Given the description of an element on the screen output the (x, y) to click on. 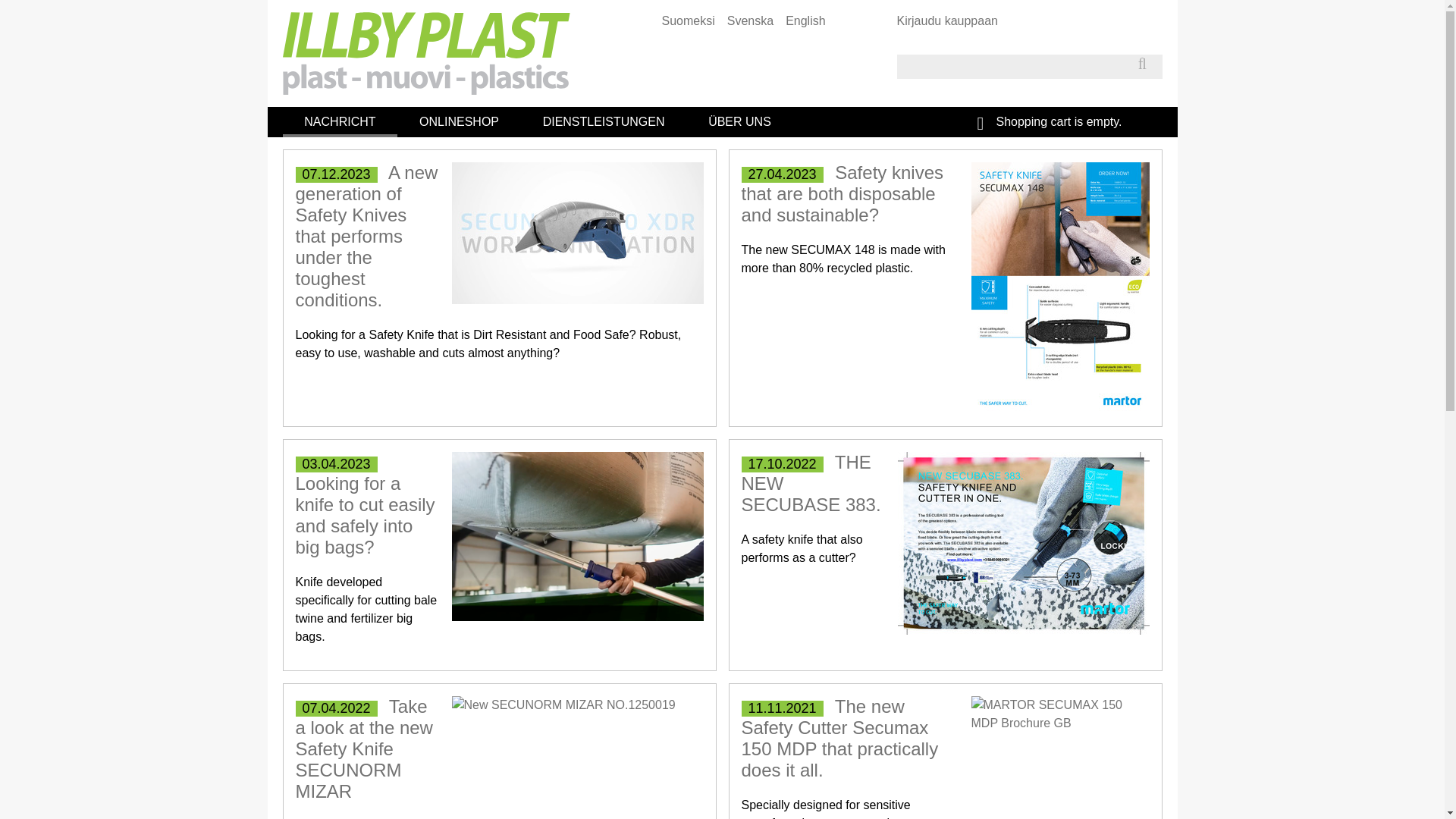
ONLINESHOP (459, 122)
English (805, 20)
17.10.2022 THE NEW SECUBASE 383. (810, 483)
Suomeksi (688, 20)
DIENSTLEISTUNGEN (604, 122)
NACHRICHT (339, 122)
Kirjaudu kauppaan (946, 20)
